Given the description of an element on the screen output the (x, y) to click on. 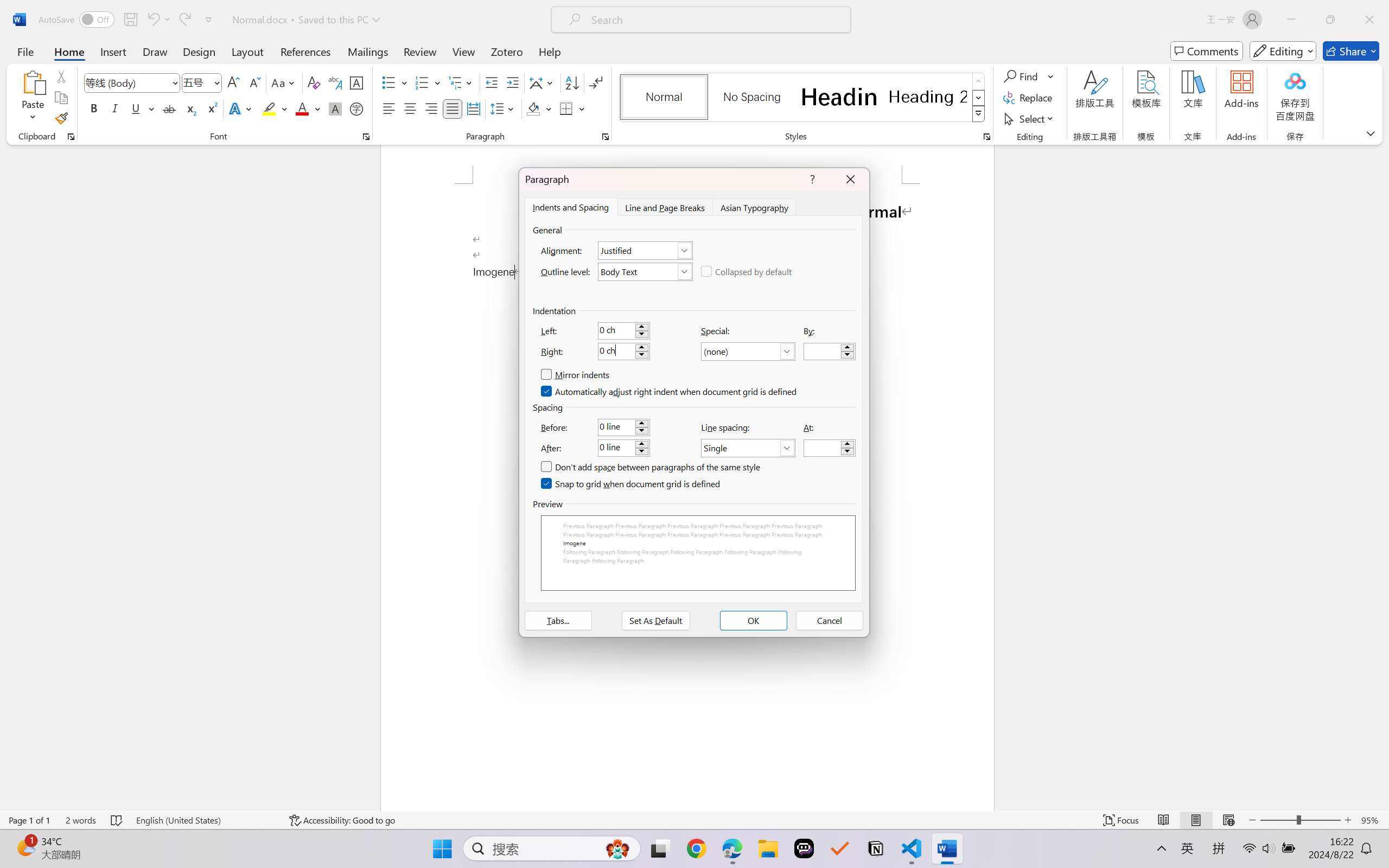
Shading RGB(0, 0, 0) (533, 108)
Mirror indents (575, 374)
